Given the description of an element on the screen output the (x, y) to click on. 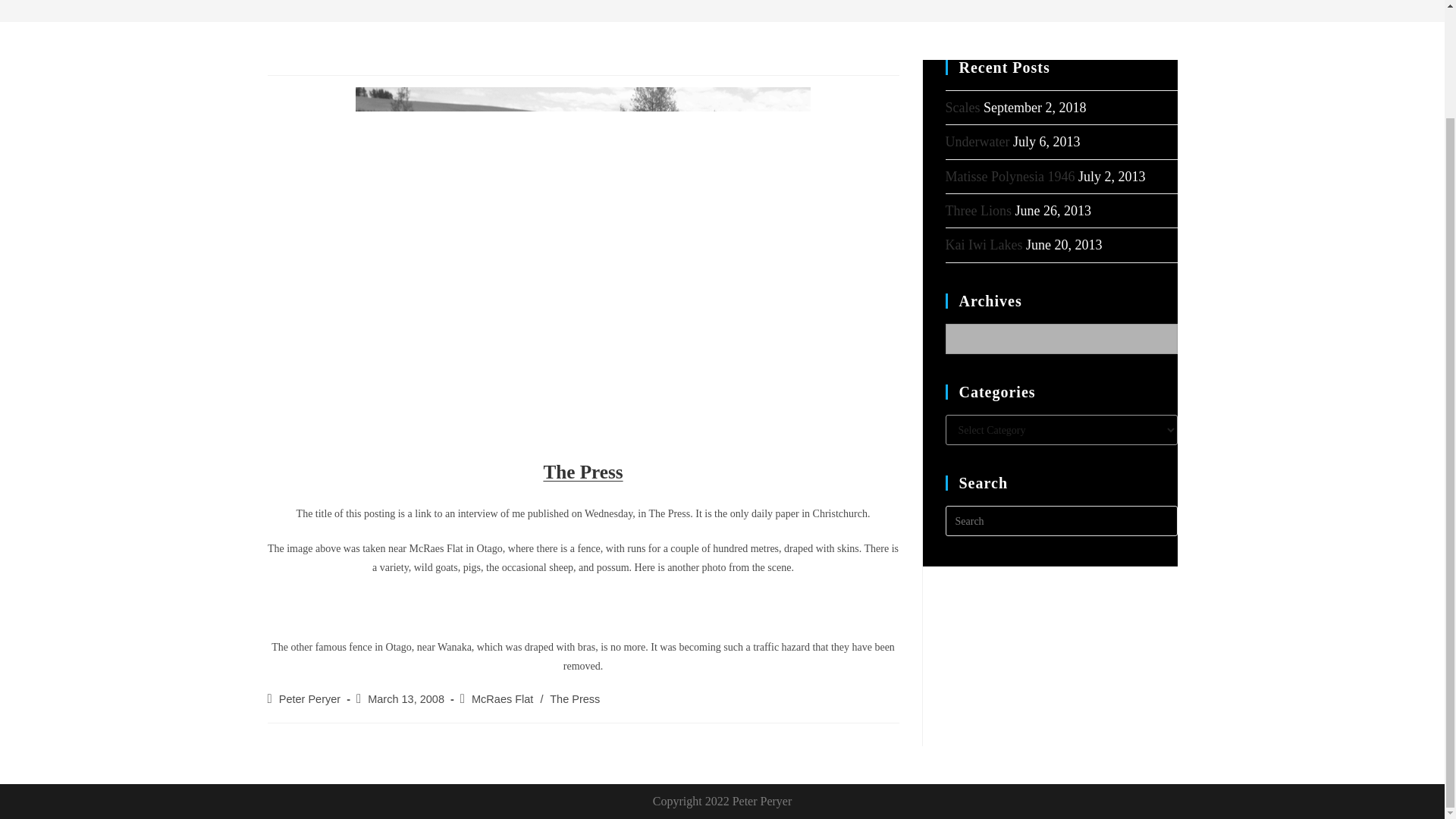
Scales (961, 107)
McRaes Flat (501, 698)
The Press (574, 698)
Posts by Peter Peryer (309, 698)
Peter Peryer (309, 698)
The Press (583, 474)
